Given the description of an element on the screen output the (x, y) to click on. 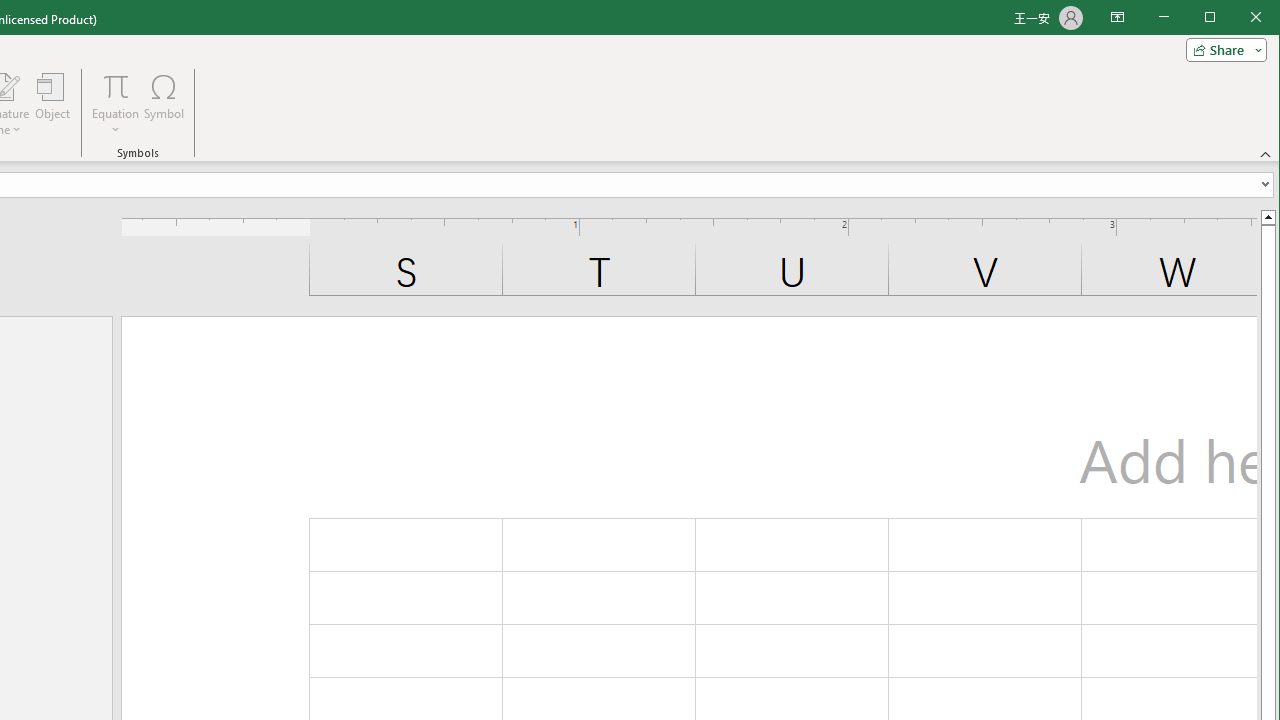
Equation (115, 86)
Object... (53, 104)
Symbol... (164, 104)
Maximize (1238, 18)
Equation (115, 104)
